Given the description of an element on the screen output the (x, y) to click on. 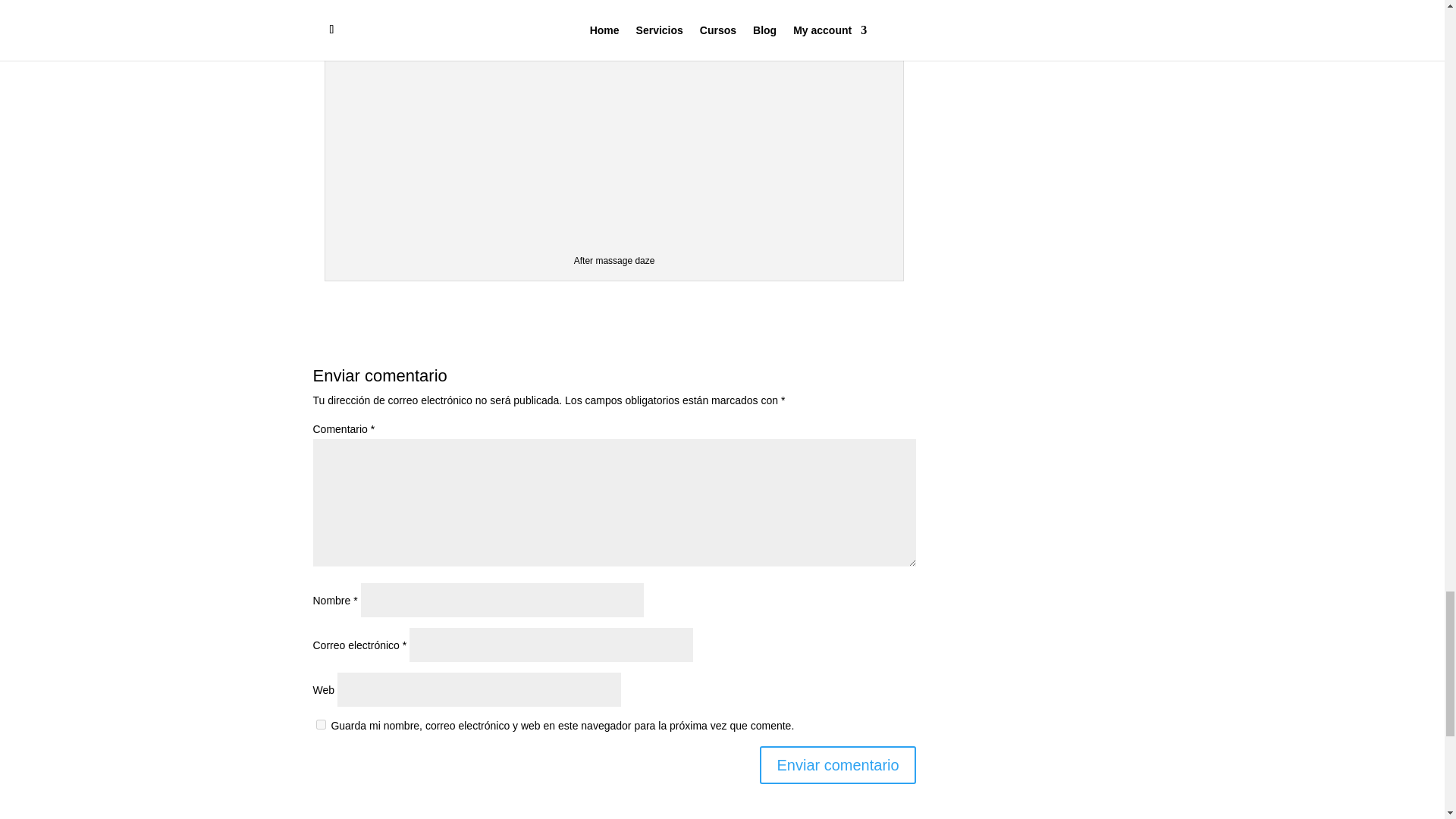
yes (319, 724)
Enviar comentario (837, 764)
Enviar comentario (837, 764)
